Given the description of an element on the screen output the (x, y) to click on. 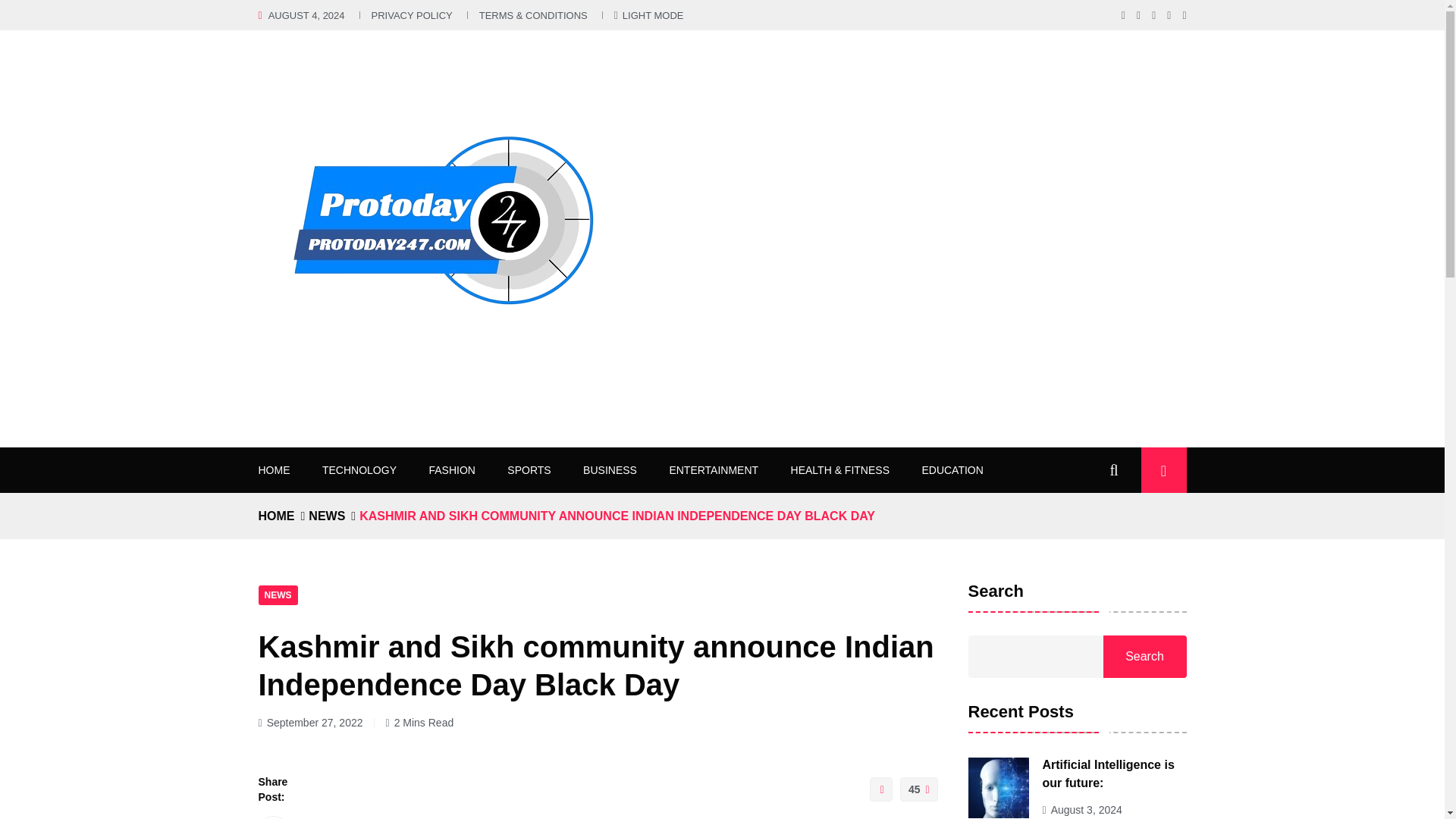
Home (275, 515)
AUGUST 4, 2024 (306, 15)
LIGHT MODE (649, 15)
PRIVACY POLICY (411, 15)
